Given the description of an element on the screen output the (x, y) to click on. 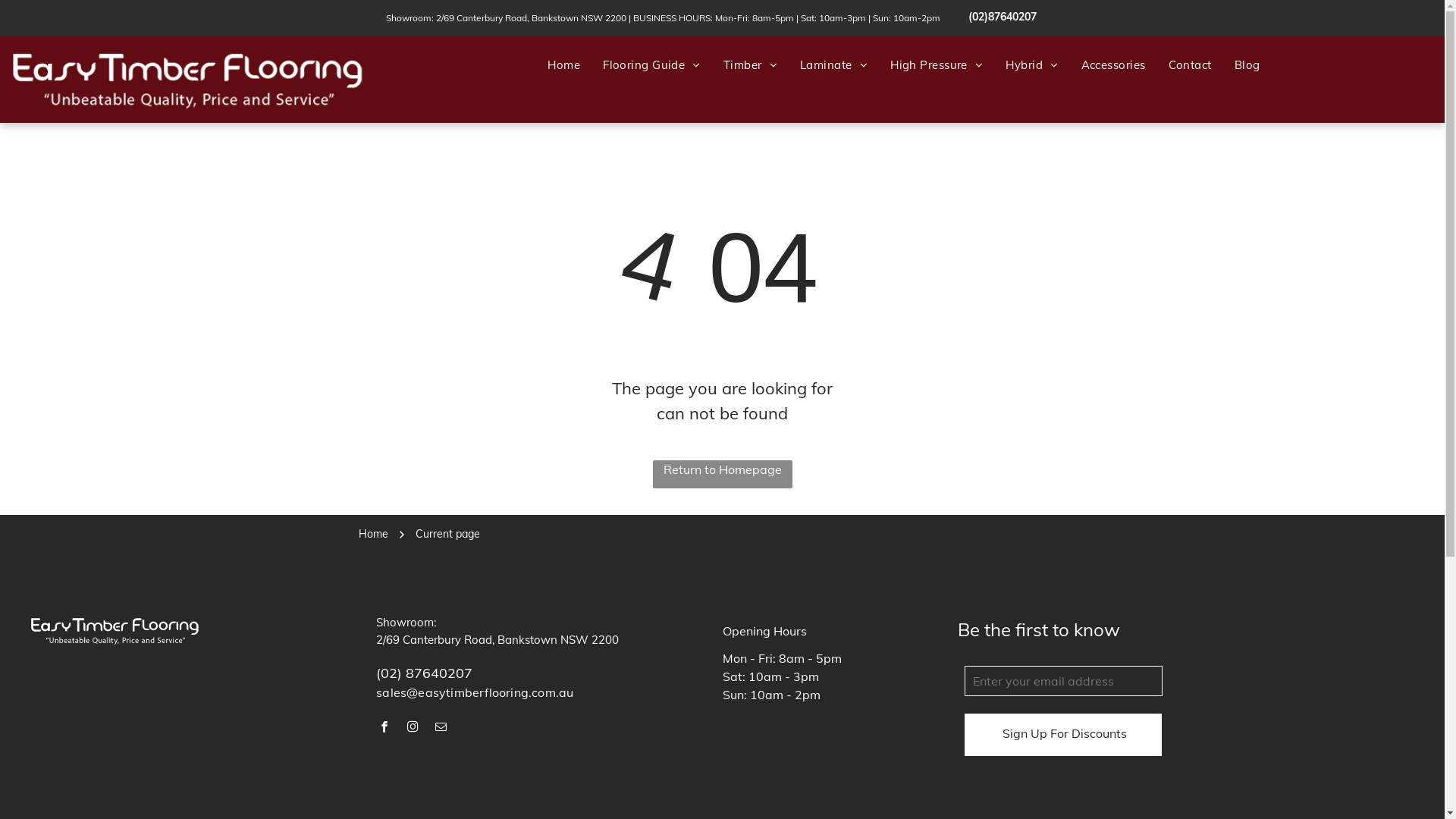
Blog Element type: text (1247, 65)
Sign Up For Discounts Element type: text (1064, 733)
Flooring Guide Element type: text (651, 65)
Home Element type: text (372, 534)
Home Element type: text (563, 65)
(02) 87640207 Element type: text (424, 672)
Contact Element type: text (1190, 65)
Accessories Element type: text (1113, 65)
High Pressure Element type: text (936, 65)
Return to Homepage Element type: text (721, 474)
Laminate Element type: text (833, 65)
Timber Element type: text (750, 65)
Hybrid Element type: text (1031, 65)
